Given the description of an element on the screen output the (x, y) to click on. 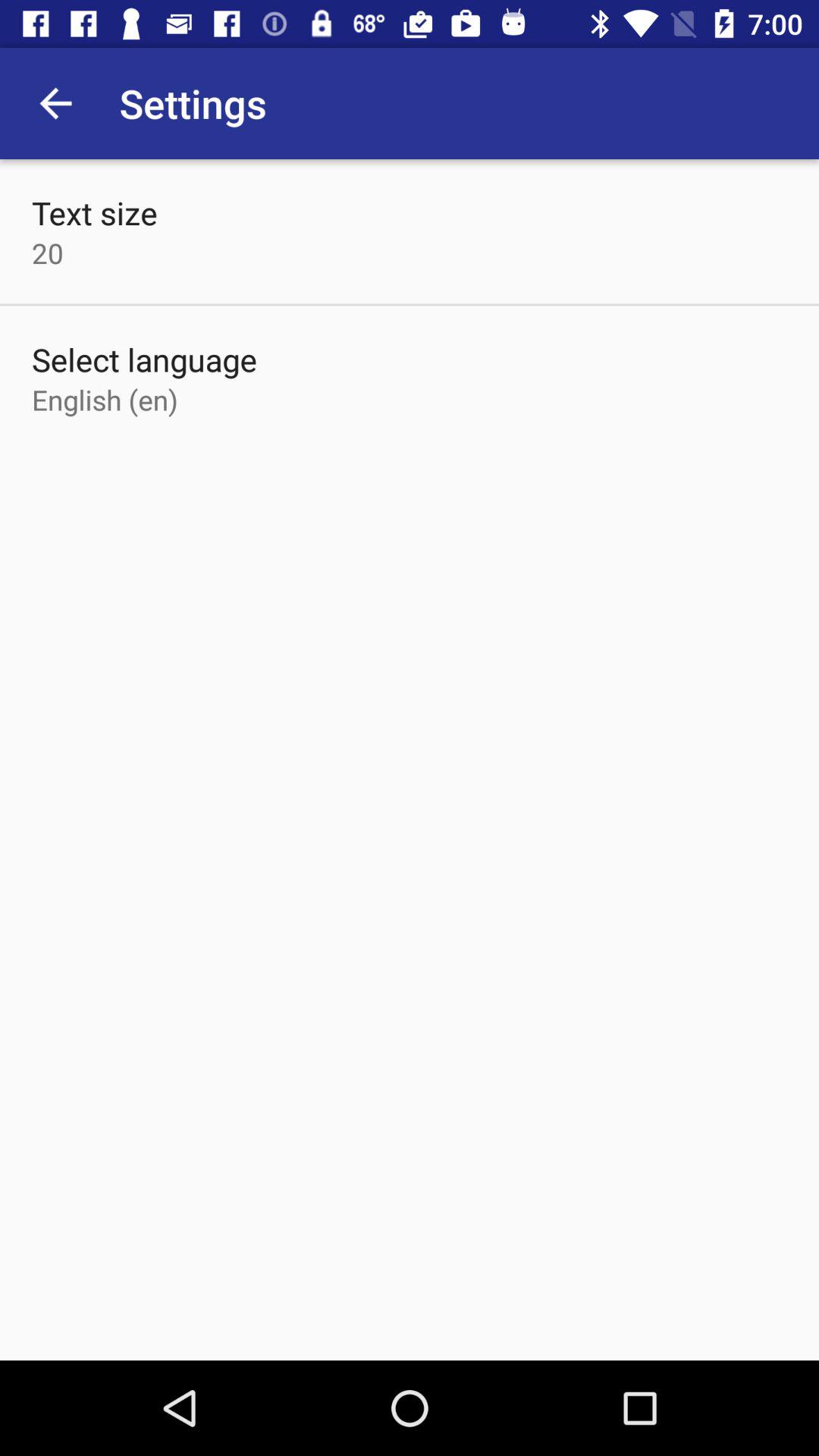
open item above the 20 item (94, 212)
